Given the description of an element on the screen output the (x, y) to click on. 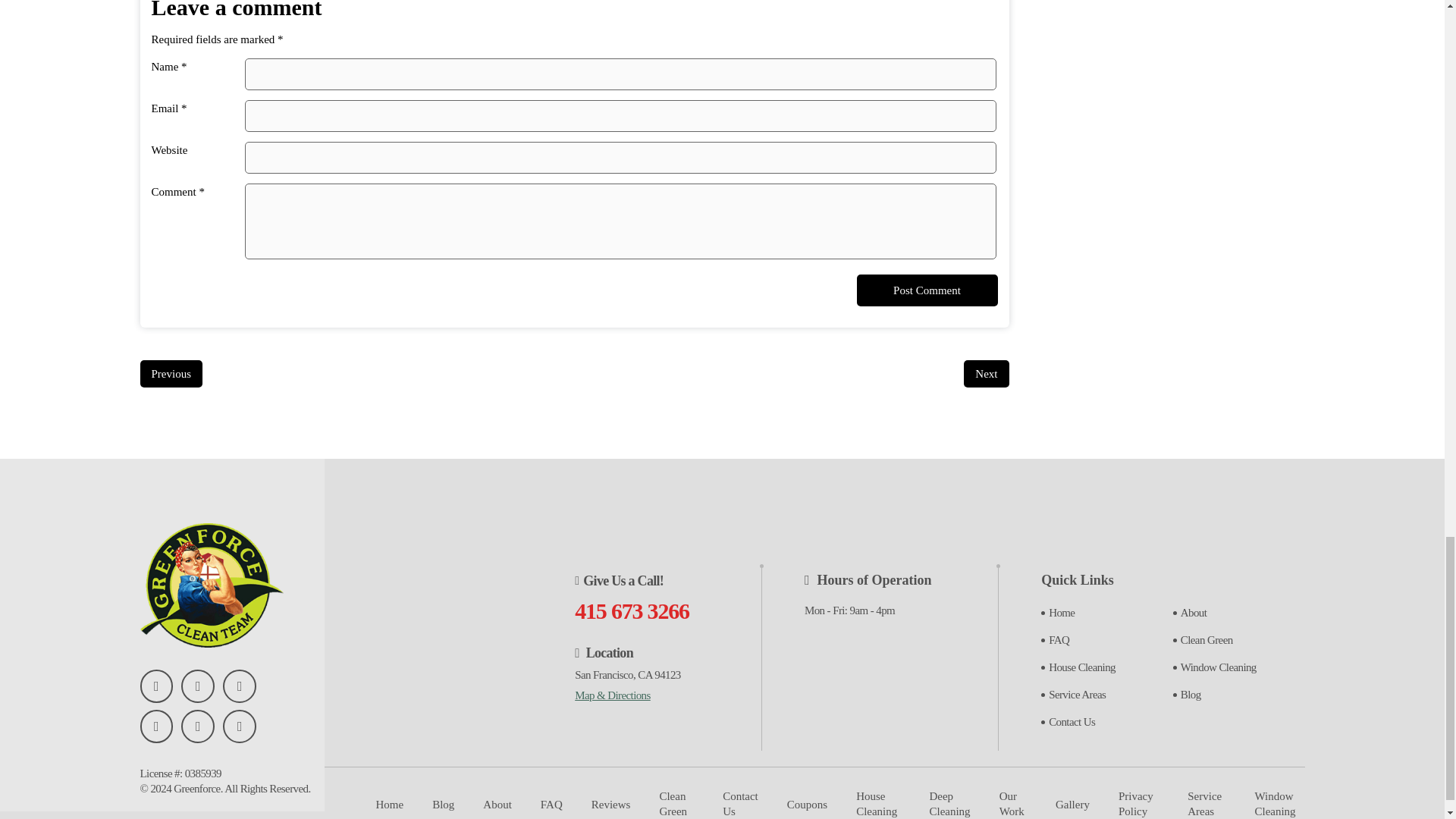
Home (1061, 612)
415 673 3266 (631, 610)
Service Areas (1076, 694)
Post Comment (927, 290)
Clean Green (1206, 639)
House Cleaning (1081, 666)
Window Cleaning (1218, 666)
Previous (170, 373)
About (1193, 612)
Home (389, 803)
Next (986, 373)
Contact Us (1071, 721)
Greenforce (196, 788)
Post Comment (927, 290)
